Given the description of an element on the screen output the (x, y) to click on. 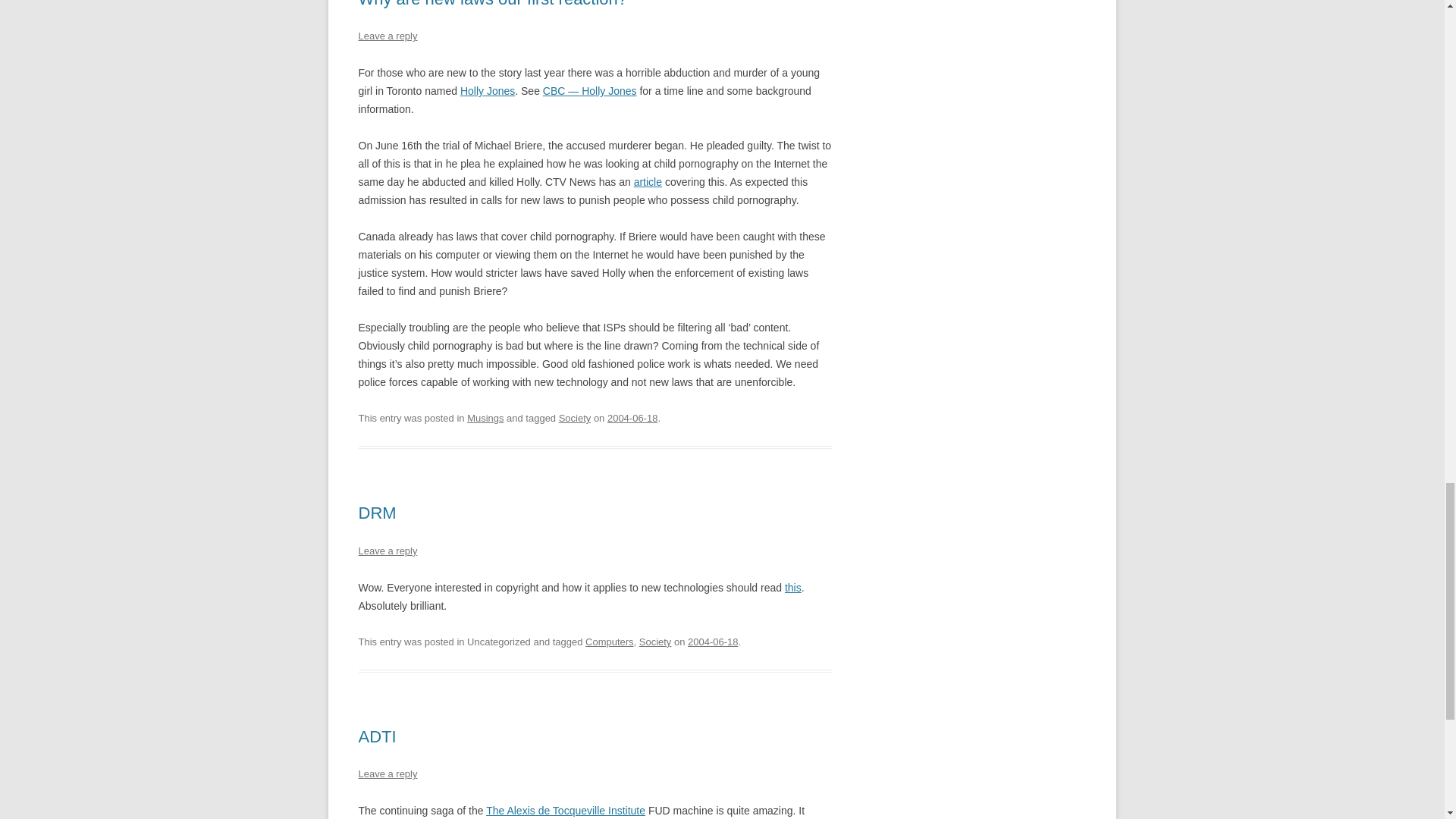
Holly Jones (487, 91)
Leave a reply (387, 550)
Society (575, 418)
2129 (632, 418)
1518 (712, 641)
Society (655, 641)
Why are new laws our first reaction? (492, 4)
2004-06-18 (632, 418)
Computers (609, 641)
this (793, 587)
article (647, 182)
DRM (377, 512)
Musings (485, 418)
Leave a reply (387, 35)
